Given the description of an element on the screen output the (x, y) to click on. 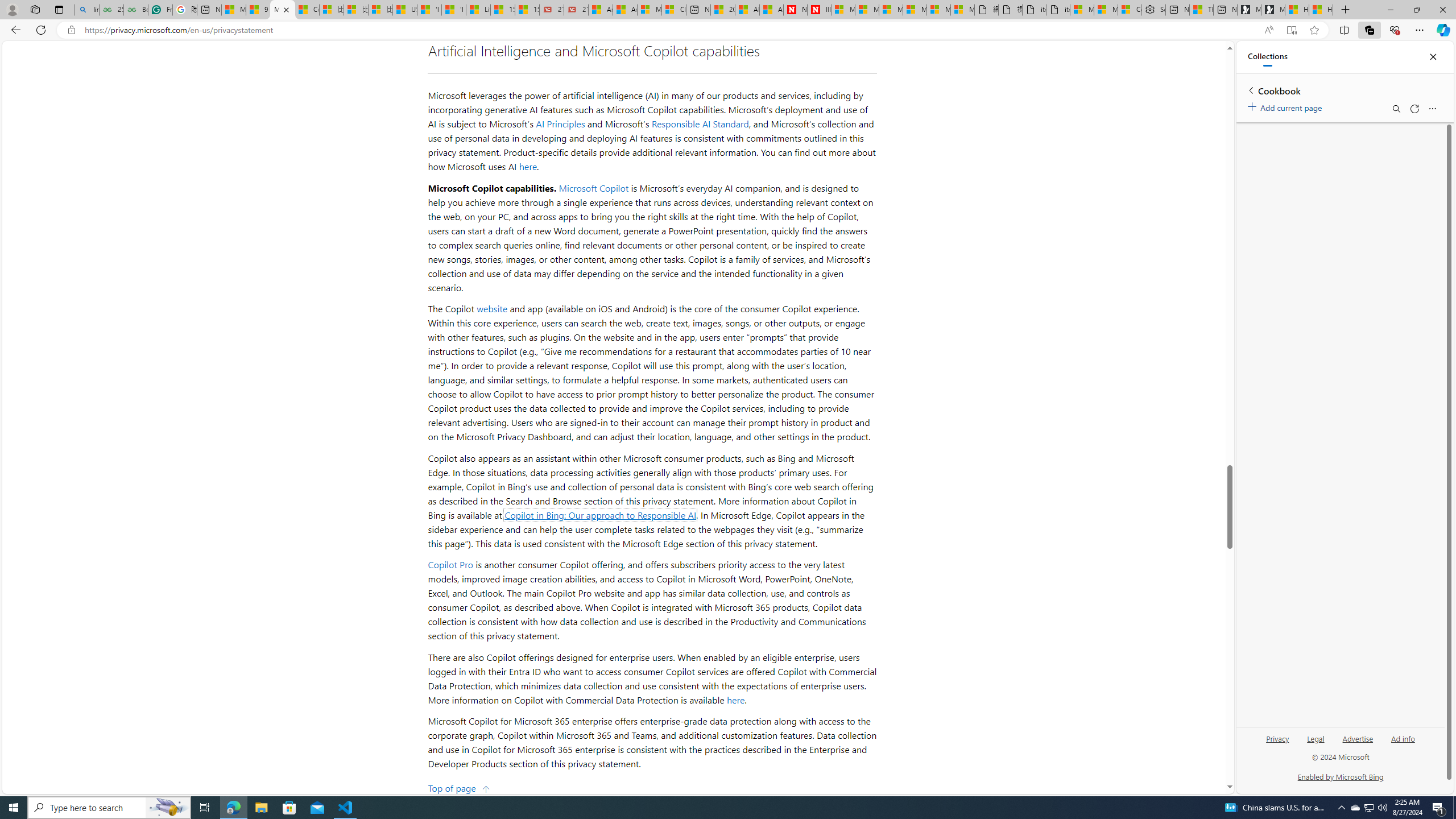
linux basic - Search (86, 9)
Add current page (1286, 105)
Responsible AI Standard (699, 123)
